Given the description of an element on the screen output the (x, y) to click on. 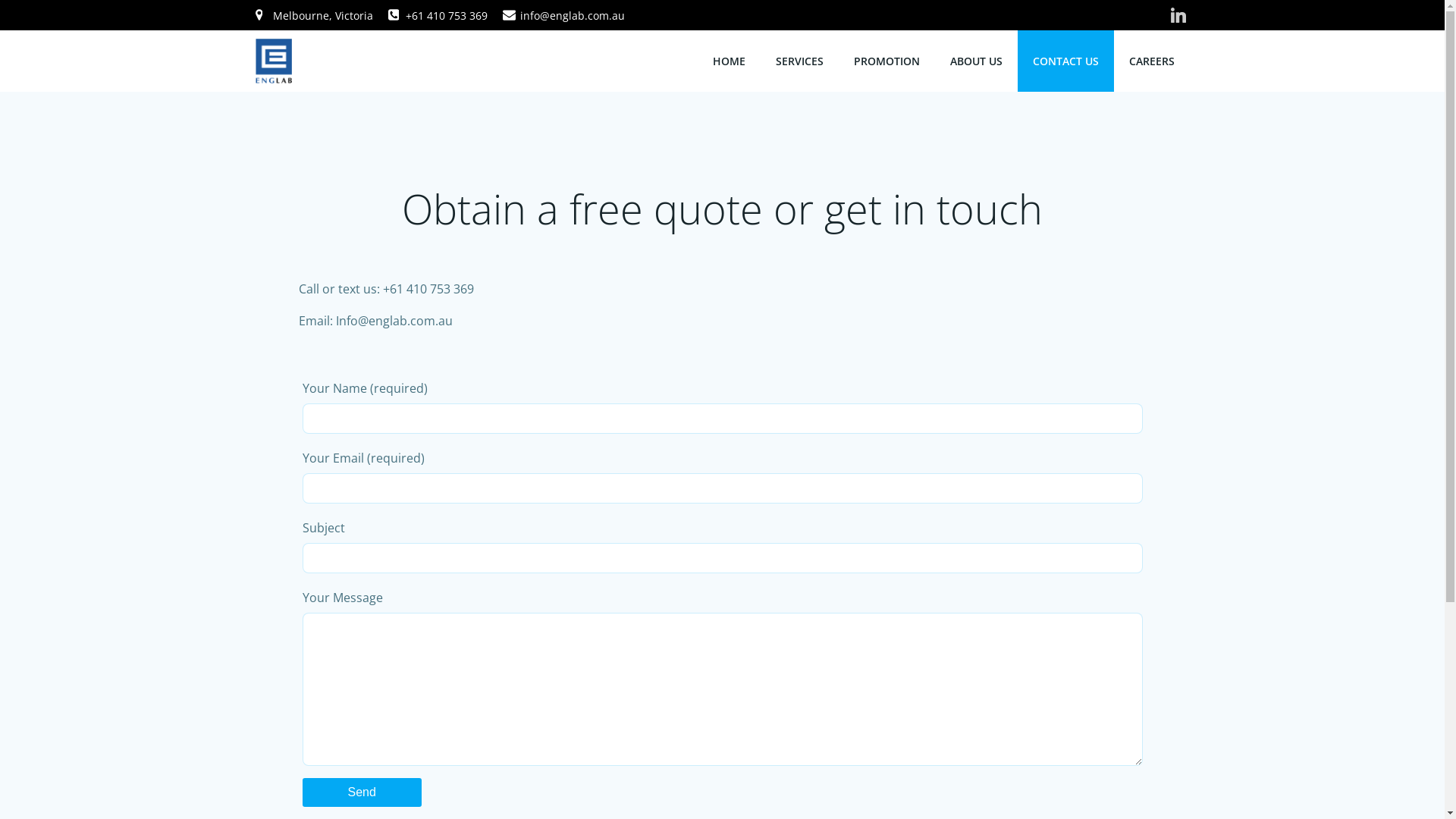
PROMOTION Element type: text (886, 61)
Send Element type: text (360, 792)
CAREERS Element type: text (1150, 61)
Colibri Element type: text (912, 773)
CONTACT US Element type: text (1065, 61)
SERVICES Element type: text (798, 61)
ABOUT US Element type: text (975, 61)
HOME Element type: text (728, 61)
